Given the description of an element on the screen output the (x, y) to click on. 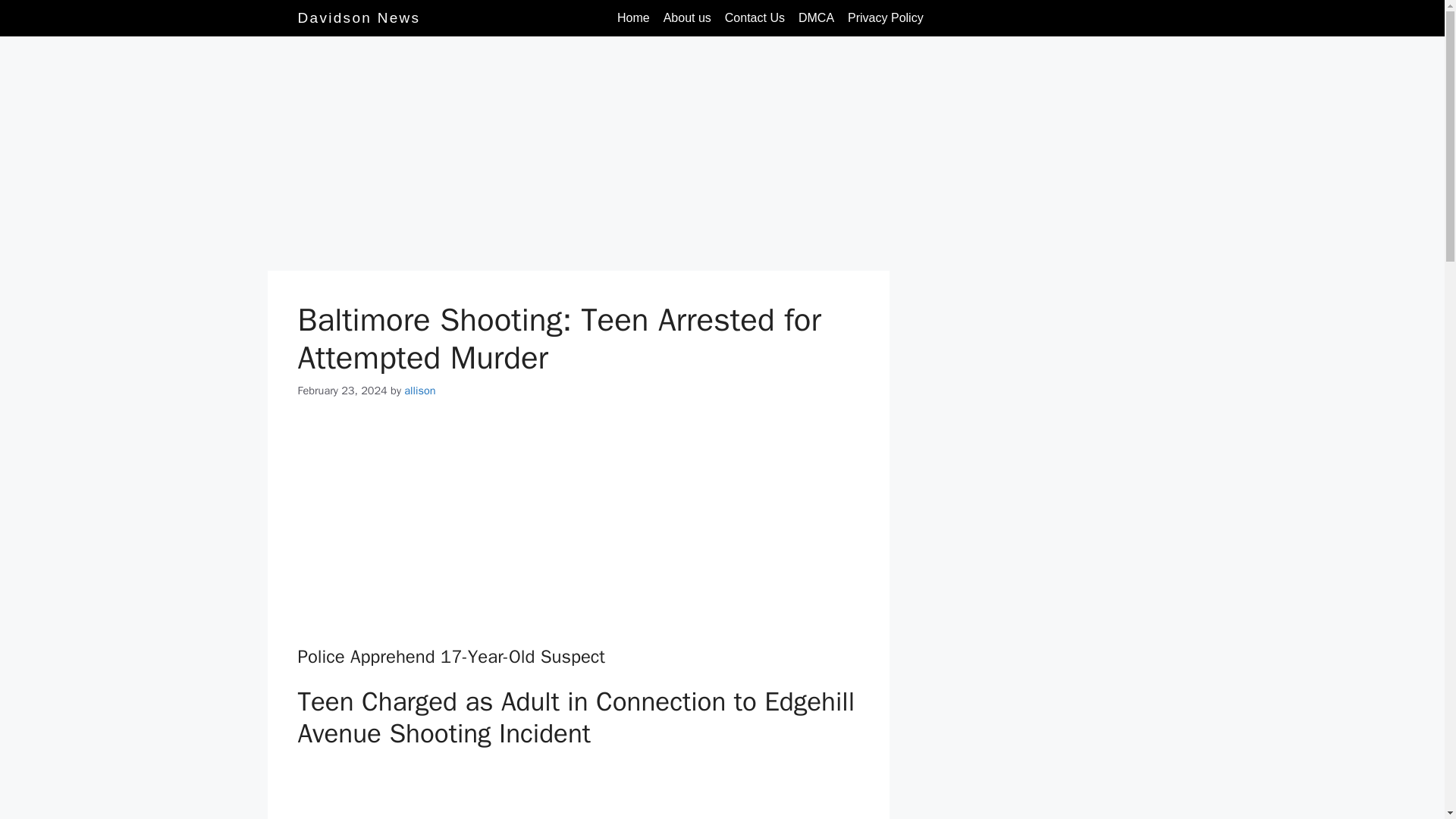
Contact Us (754, 17)
View all posts by allison (419, 390)
Privacy Policy (885, 17)
DMCA (816, 17)
Advertisement (578, 791)
Advertisement (577, 157)
Davidson News (358, 17)
About us (686, 17)
allison (419, 390)
Search (1131, 17)
Home (633, 17)
Advertisement (578, 531)
